Given the description of an element on the screen output the (x, y) to click on. 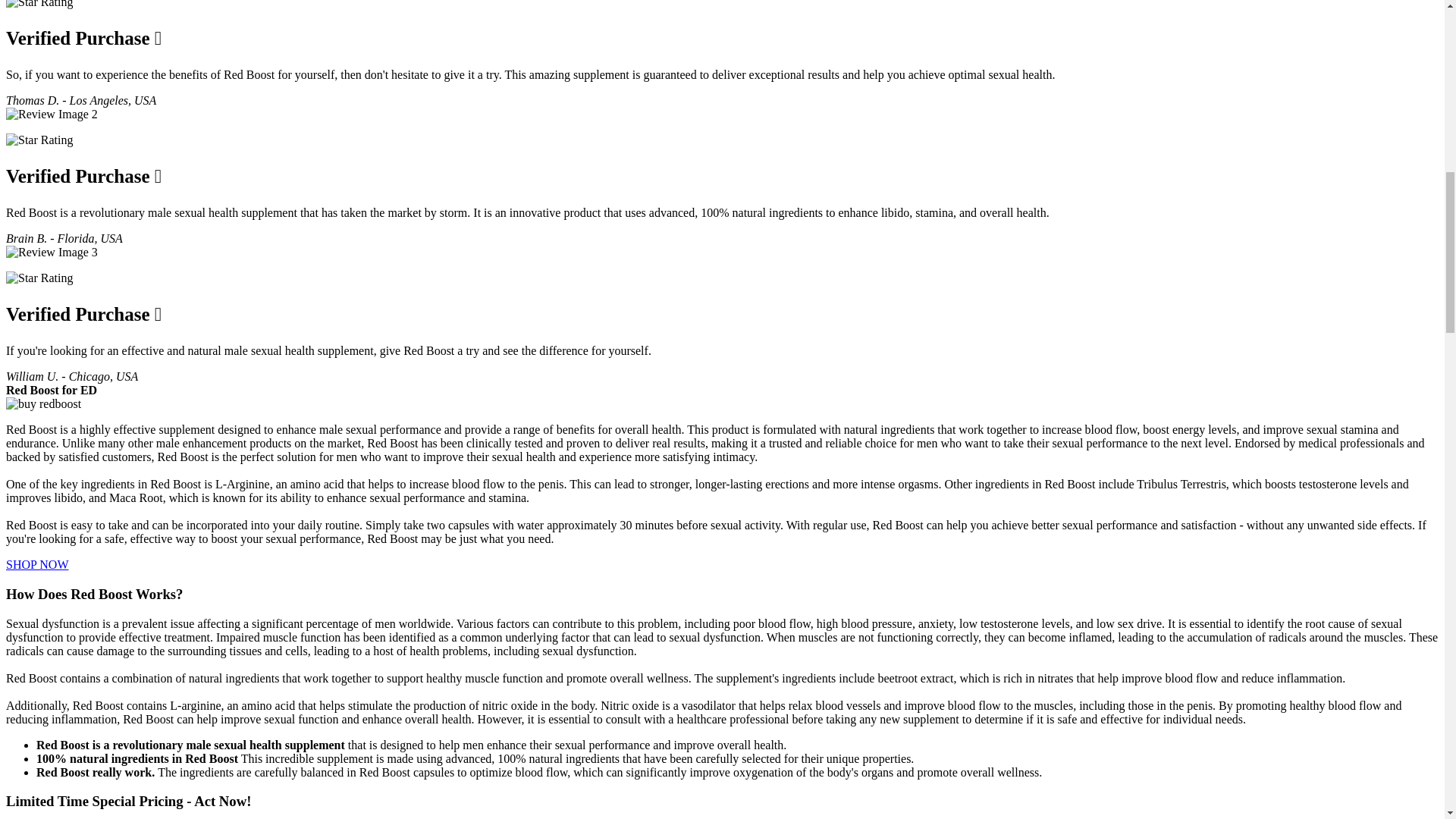
SHOP NOW (36, 563)
